Given the description of an element on the screen output the (x, y) to click on. 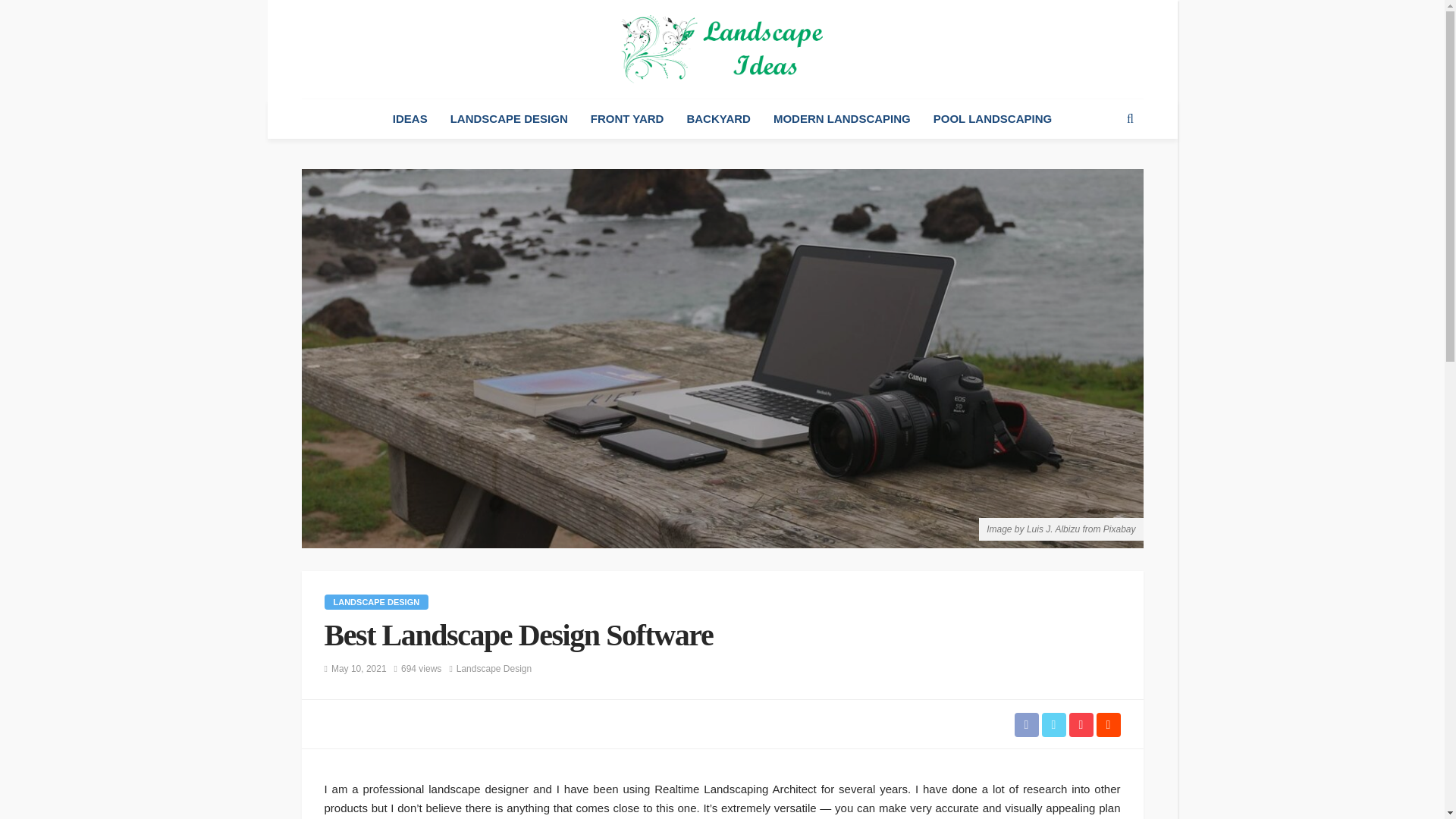
Landscape Design (376, 601)
Landscape Design (494, 668)
Best Landscape Design Software (421, 668)
Landscape Ideas (721, 49)
